Given the description of an element on the screen output the (x, y) to click on. 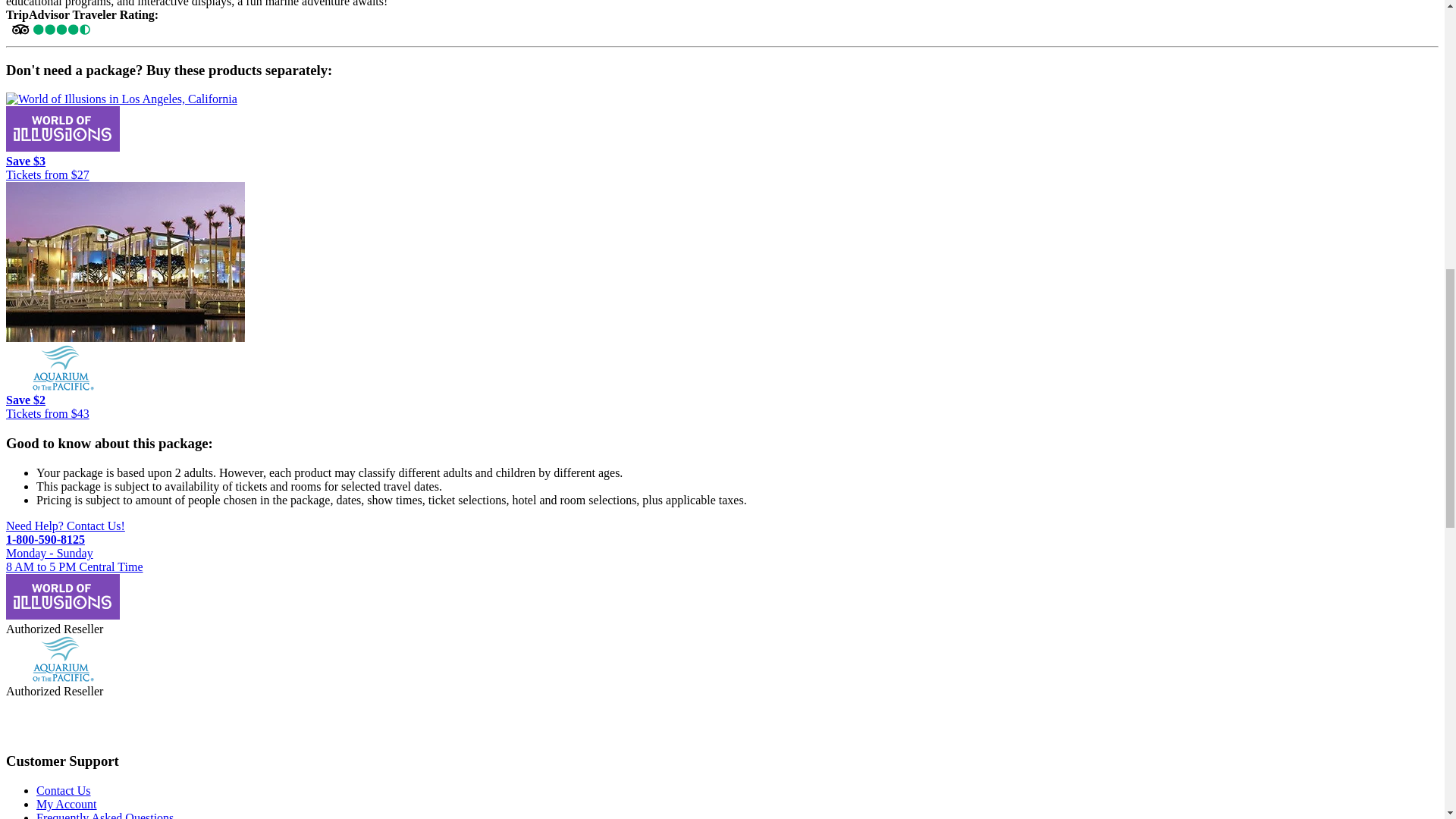
Contact Us (63, 789)
My Account (66, 803)
Frequently Asked Questions (104, 815)
